Given the description of an element on the screen output the (x, y) to click on. 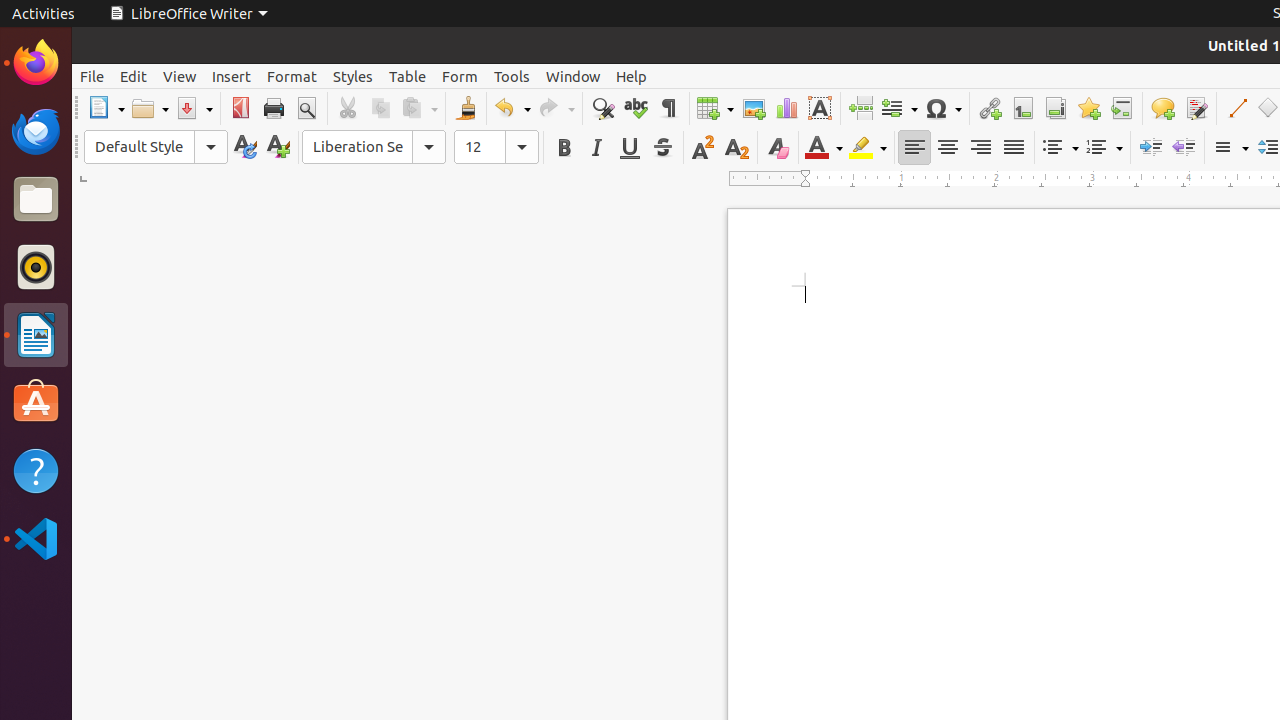
Bullets Element type: push-button (1060, 147)
Rhythmbox Element type: push-button (36, 267)
View Element type: menu (179, 76)
Symbol Element type: push-button (943, 108)
Update Element type: push-button (244, 147)
